Given the description of an element on the screen output the (x, y) to click on. 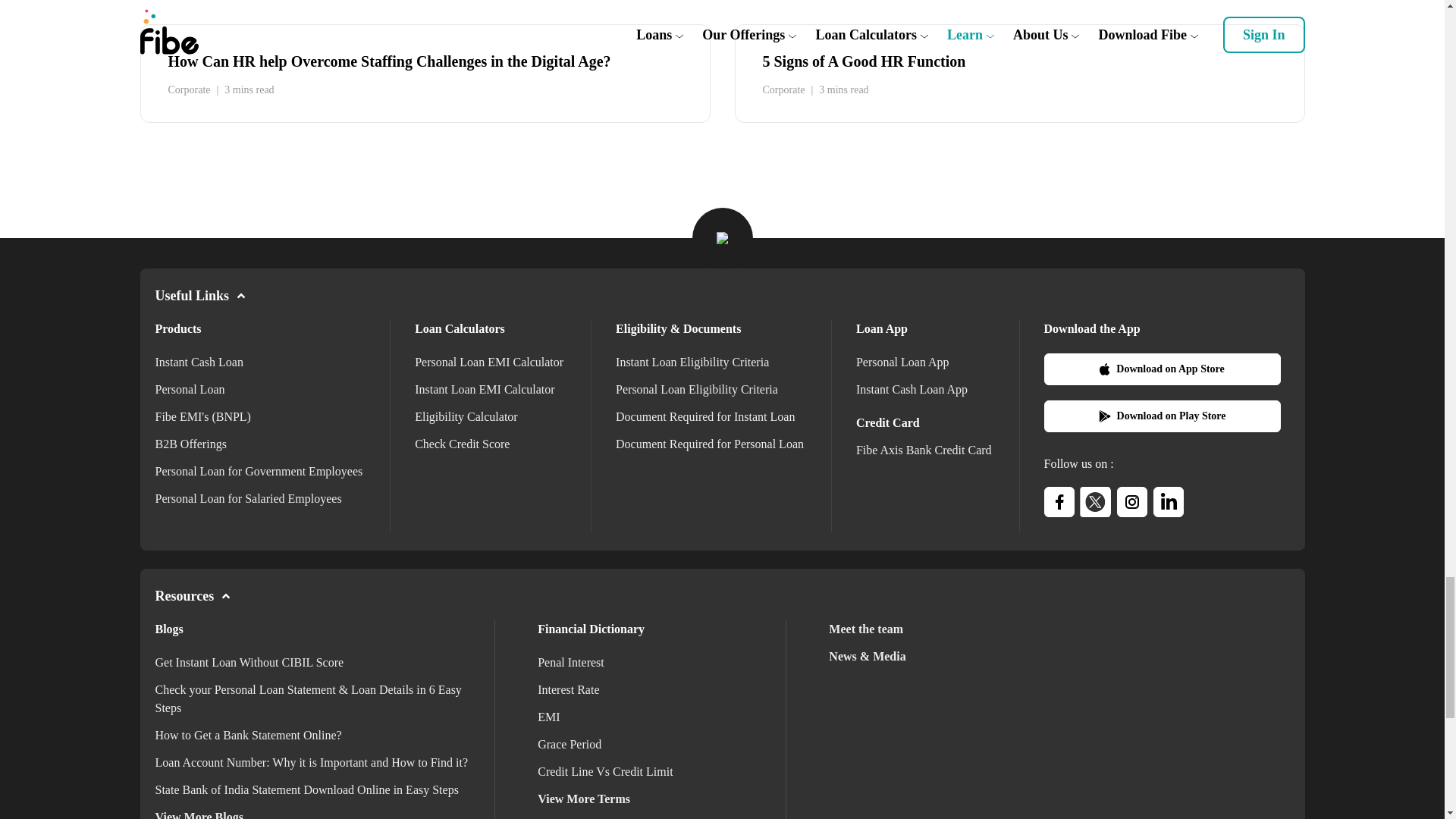
twitter (1095, 501)
instagram (1131, 501)
facebook (1058, 501)
linkedin (1168, 501)
